Given the description of an element on the screen output the (x, y) to click on. 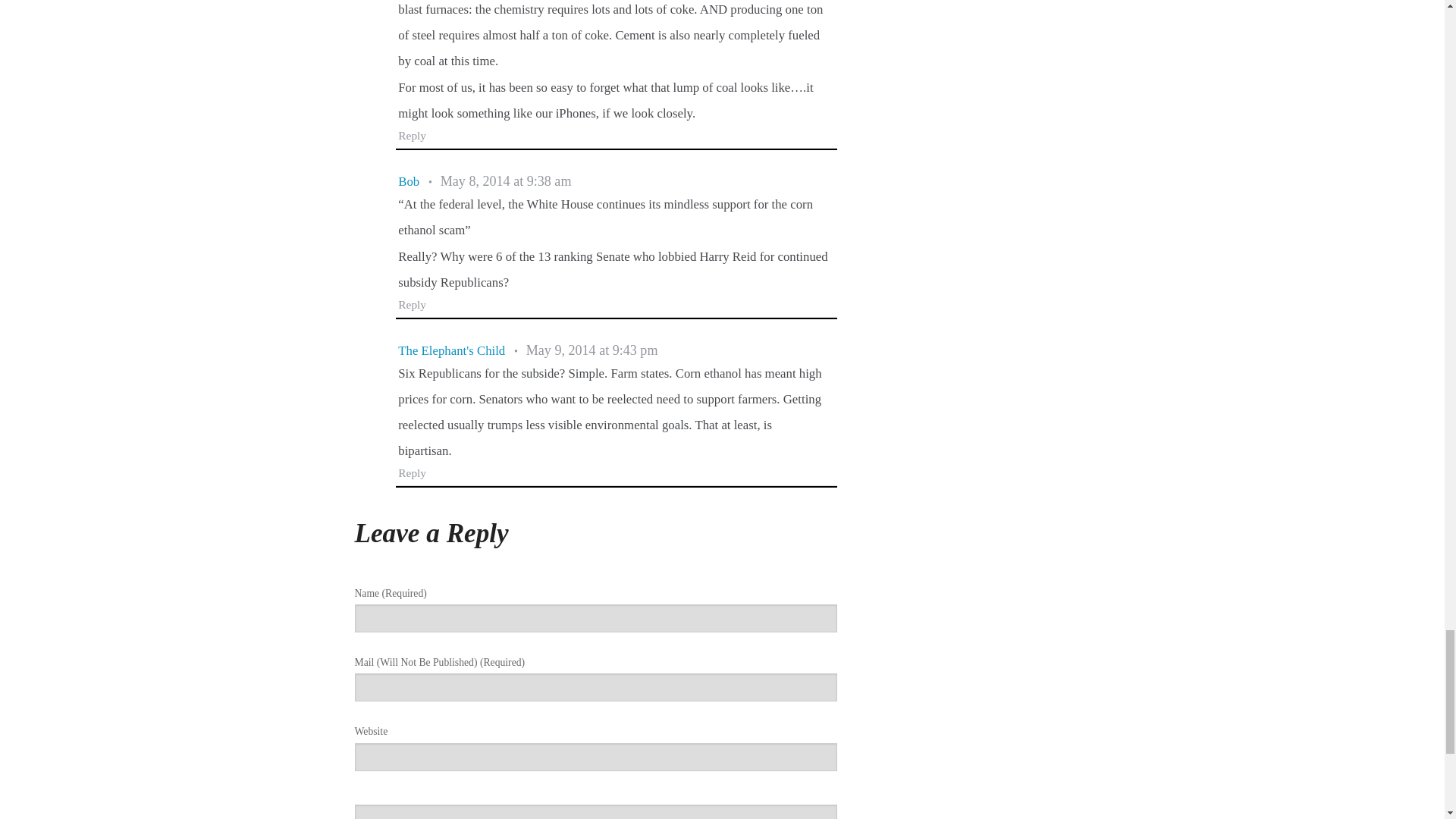
May 8, 2014 at 9:38 am (506, 181)
The Elephant's Child (451, 350)
Reply (411, 472)
Bob (408, 181)
May 9, 2014 at 9:43 pm (591, 350)
Reply (411, 134)
Reply (411, 304)
